Given the description of an element on the screen output the (x, y) to click on. 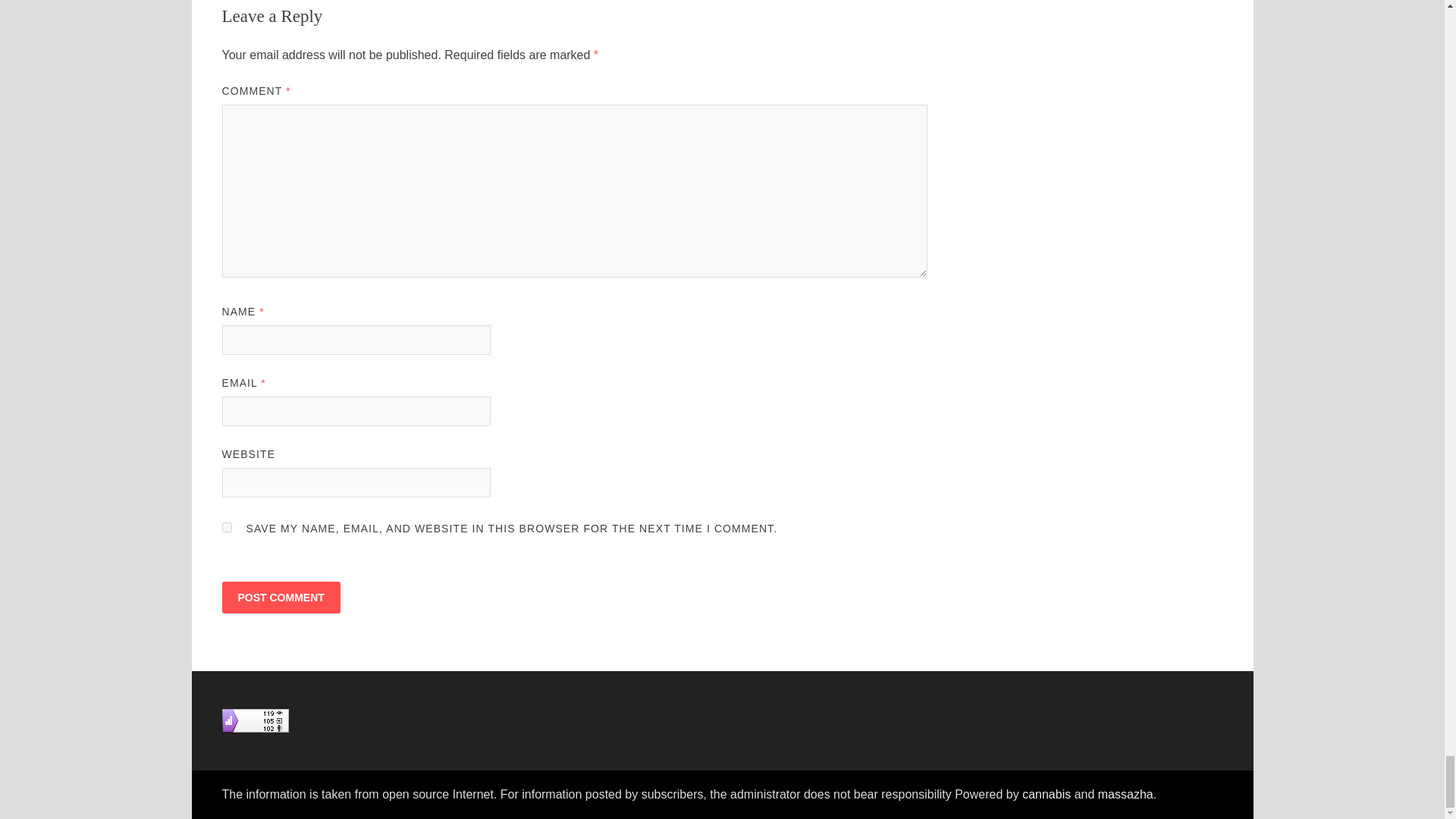
Post Comment (280, 597)
yes (226, 527)
Post Comment (280, 597)
